Given the description of an element on the screen output the (x, y) to click on. 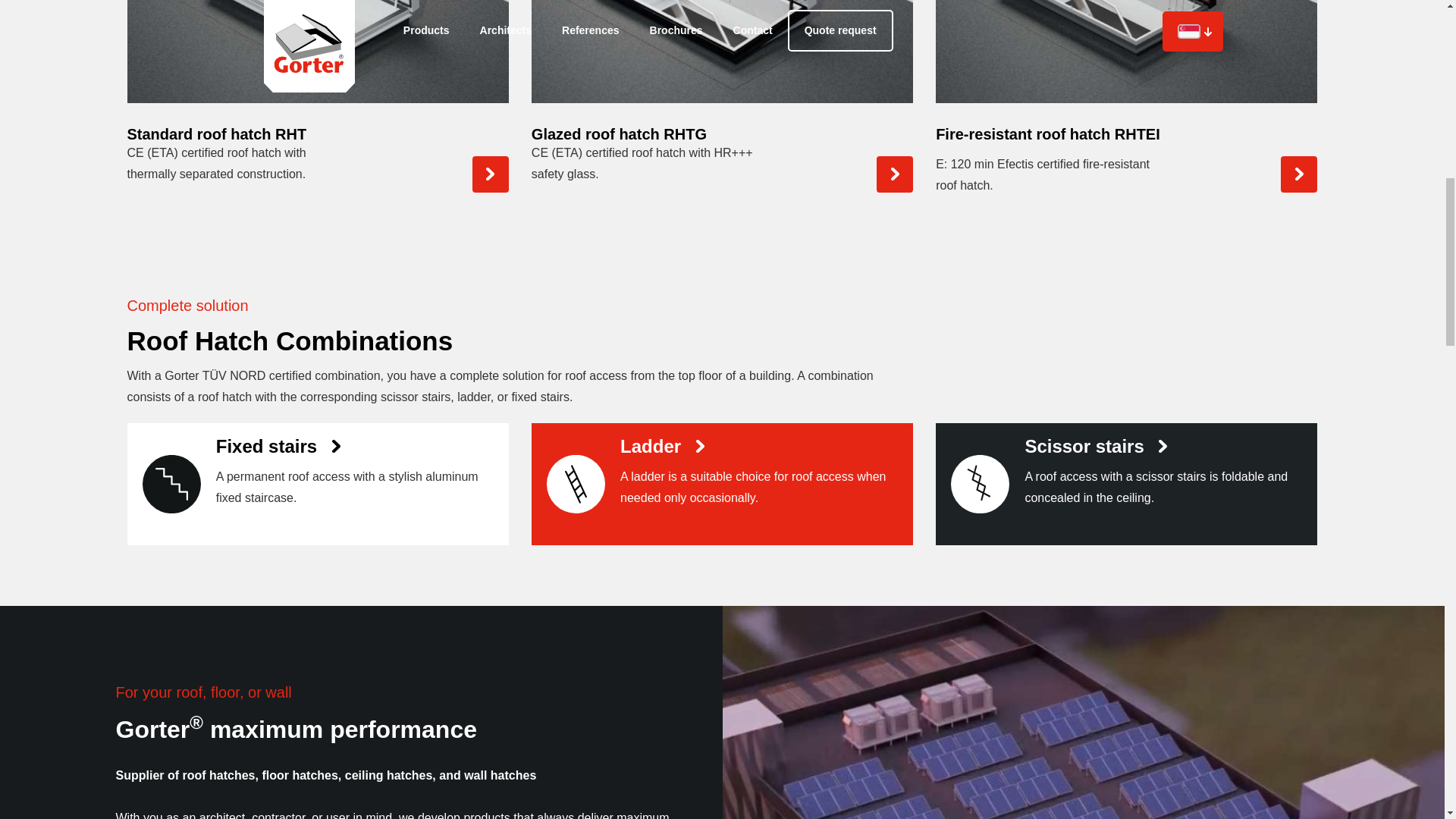
Read more (346, 483)
Read more (1155, 483)
Read more (751, 483)
